Given the description of an element on the screen output the (x, y) to click on. 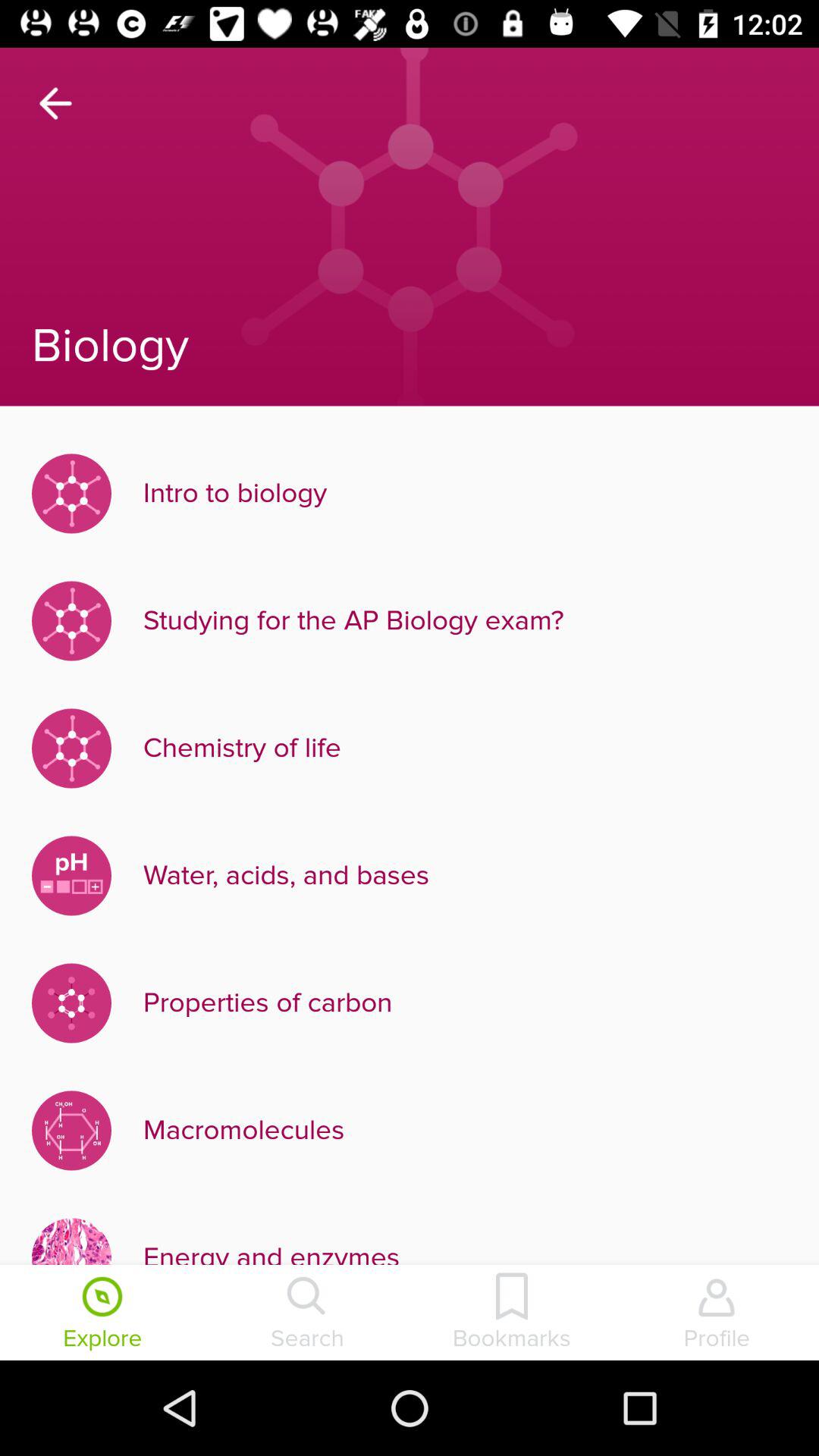
open the explore icon (102, 1314)
